Given the description of an element on the screen output the (x, y) to click on. 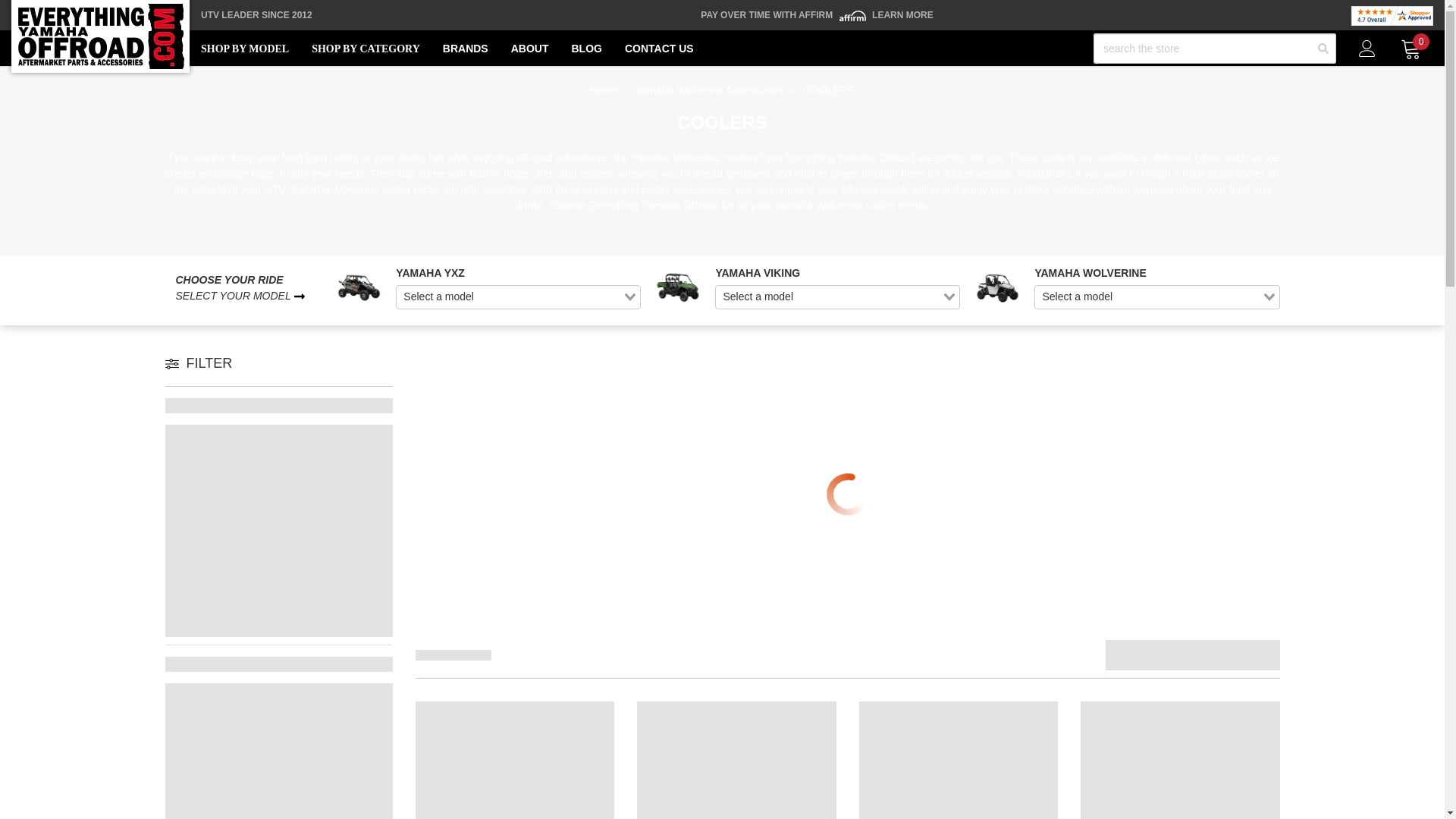
SHOP BY MODEL (244, 48)
LEARN MORE (902, 14)
SHOP BY CATEGORY (365, 48)
Everything Yamaha Offroad (100, 36)
UTV LEADER SINCE 2012 (256, 14)
